Given the description of an element on the screen output the (x, y) to click on. 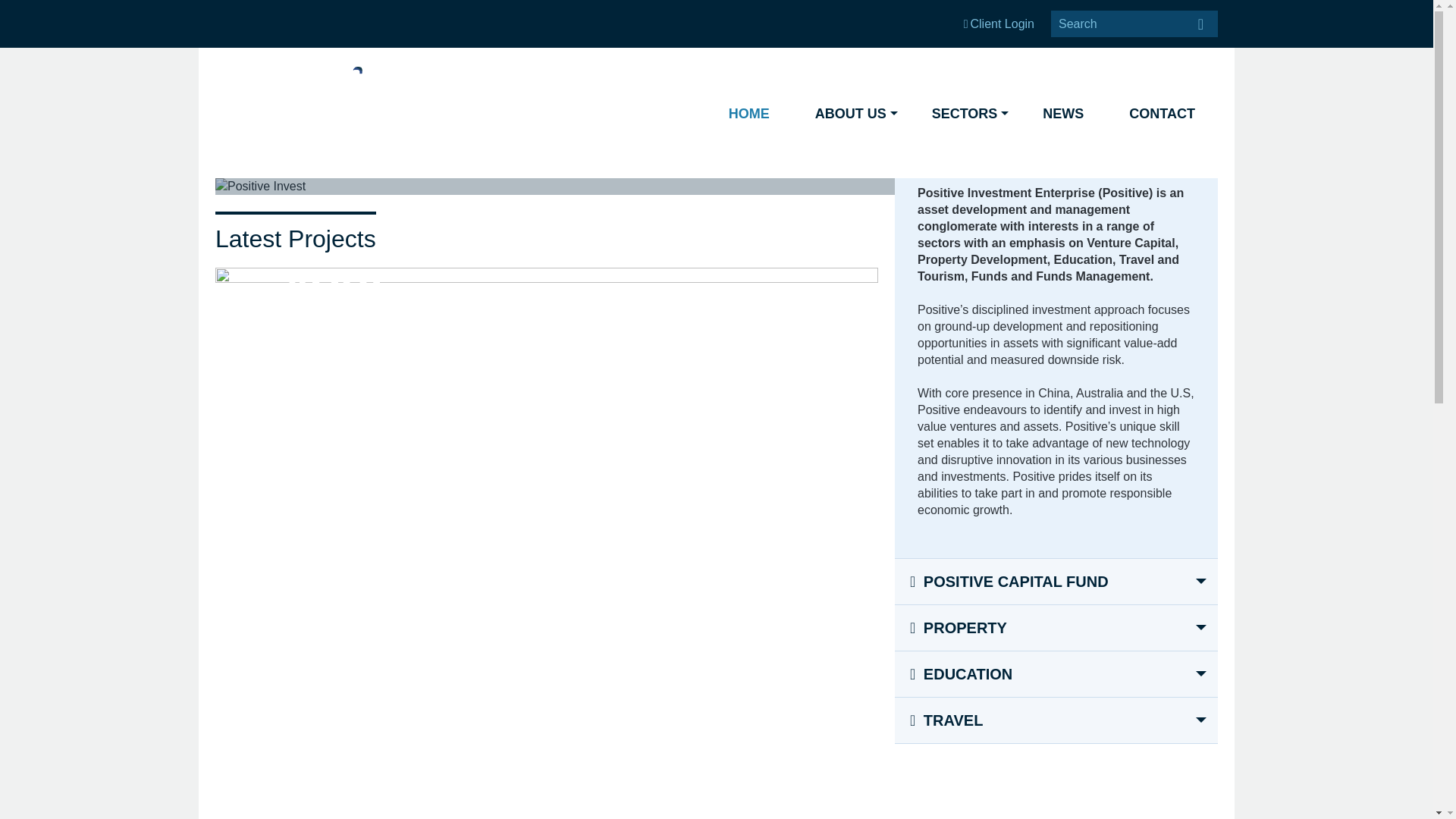
SECTORS (964, 113)
NEWS (1062, 113)
HOME (749, 113)
ABOUT US (850, 113)
CONTACT (1162, 113)
Client Login (998, 23)
